Given the description of an element on the screen output the (x, y) to click on. 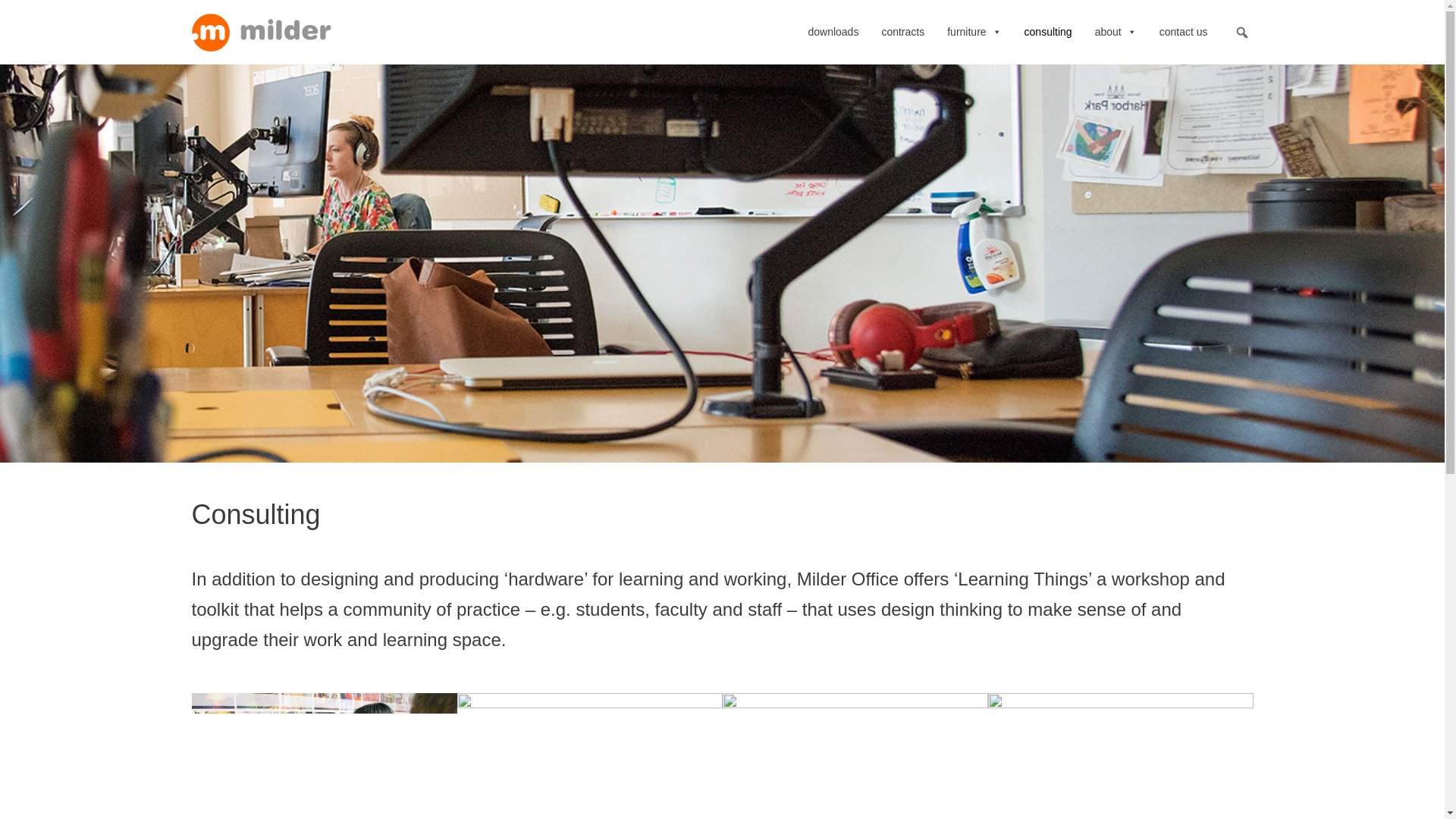
contact us (1194, 32)
about (1126, 32)
furniture (985, 32)
contracts (913, 32)
downloads (844, 32)
consulting (1059, 32)
